Given the description of an element on the screen output the (x, y) to click on. 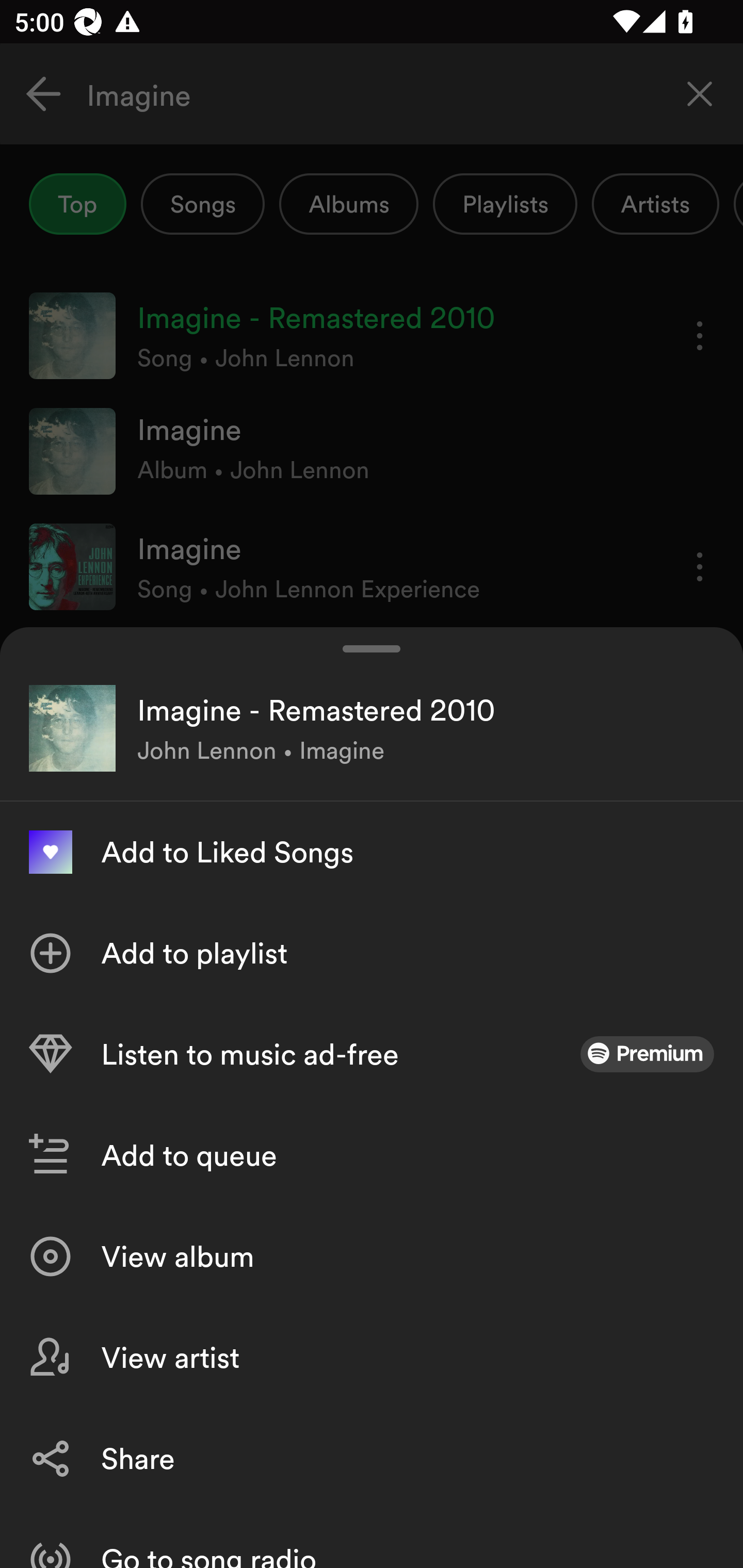
Add to Liked Songs (371, 852)
Add to playlist (371, 953)
Listen to music ad-free (371, 1054)
Add to queue (371, 1155)
View album (371, 1256)
View artist (371, 1357)
Share (371, 1458)
Go to song radio (371, 1538)
